Given the description of an element on the screen output the (x, y) to click on. 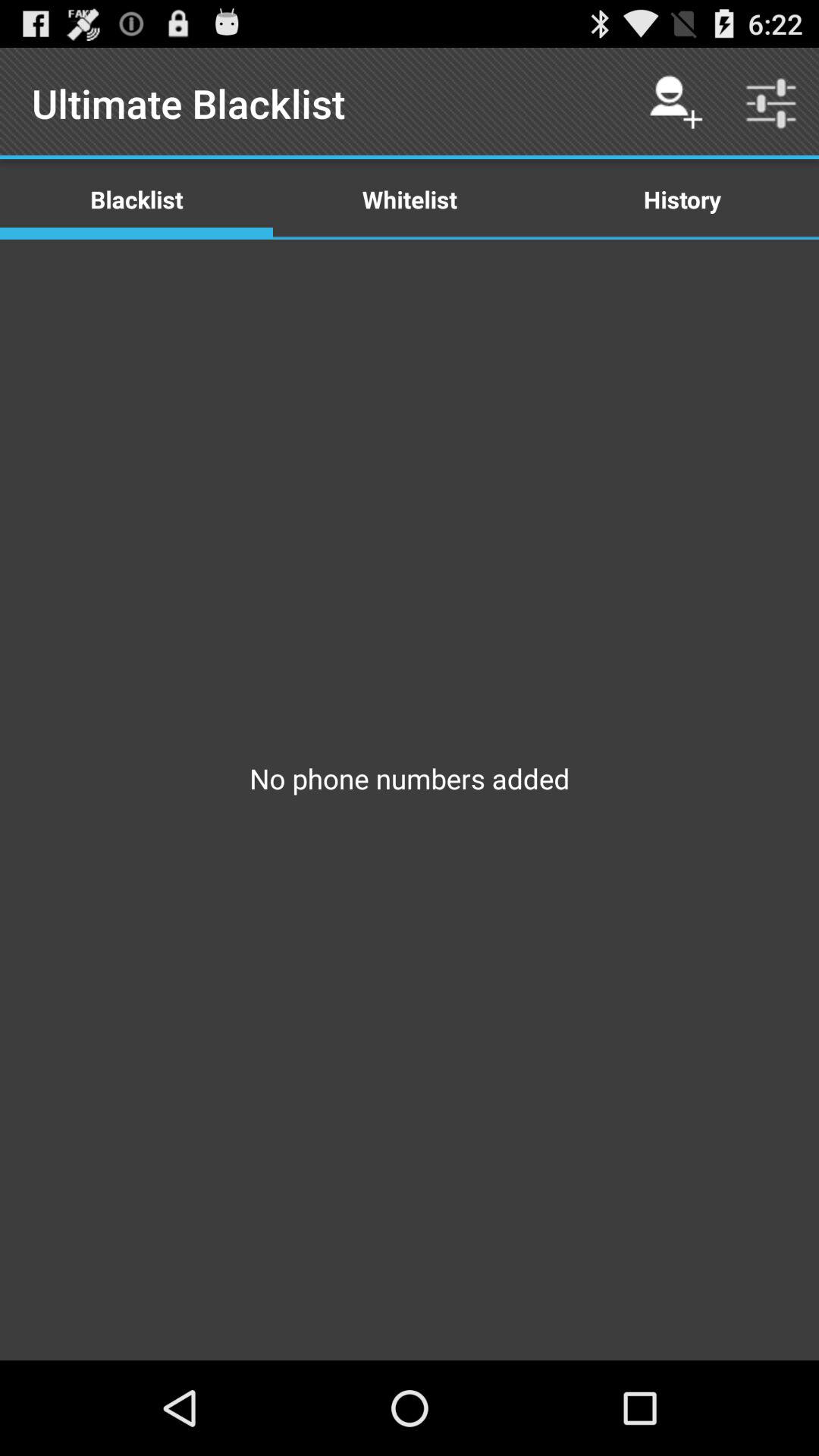
press icon next to blacklist icon (409, 199)
